Given the description of an element on the screen output the (x, y) to click on. 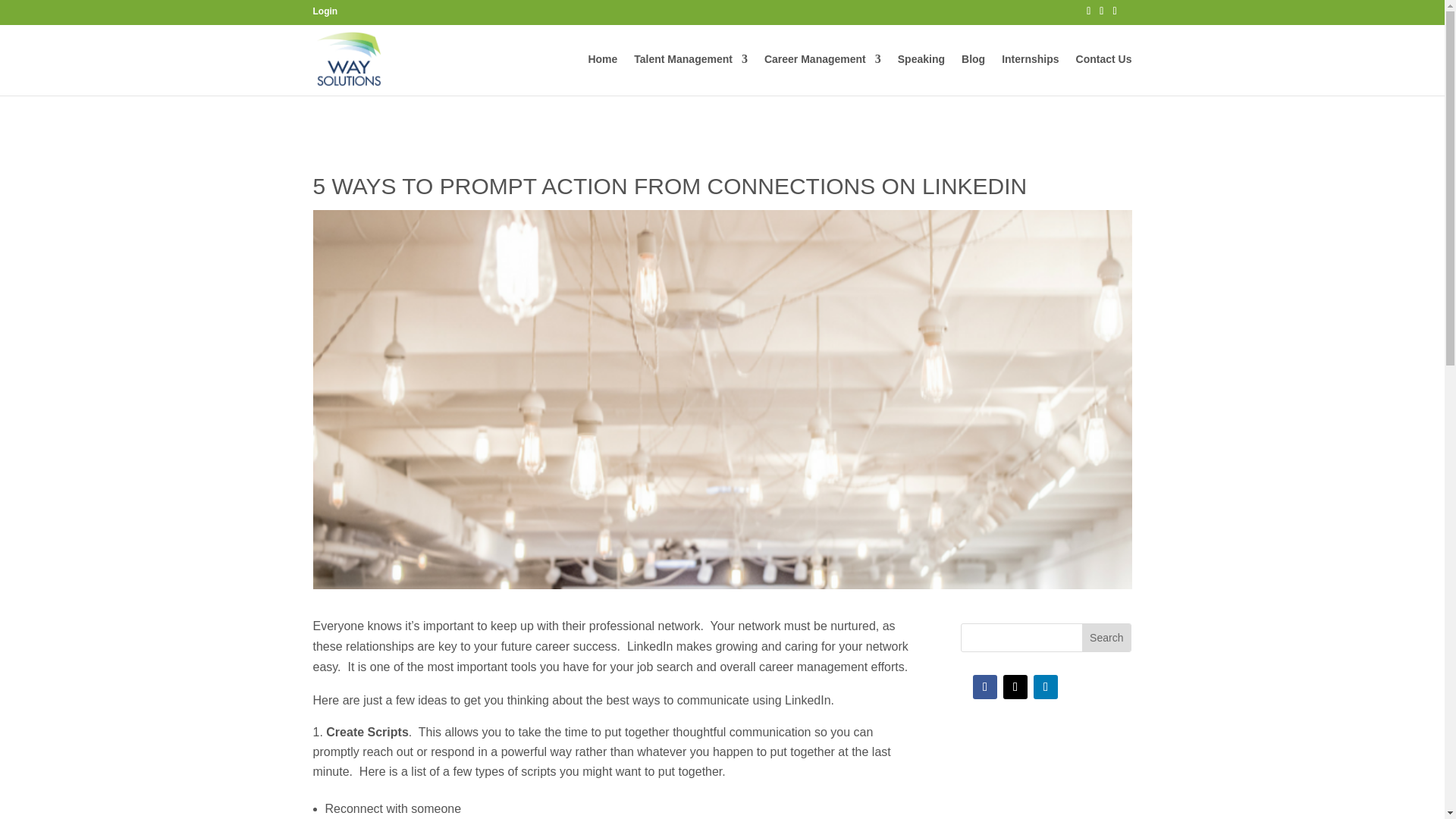
Follow on Twitter (1015, 686)
Follow on LinkedIn (1045, 686)
Search (1106, 637)
Login (325, 10)
Search (1106, 637)
Talent Management (690, 74)
Speaking (921, 74)
Follow on Facebook (984, 686)
Contact Us (1103, 74)
Internships (1029, 74)
